Given the description of an element on the screen output the (x, y) to click on. 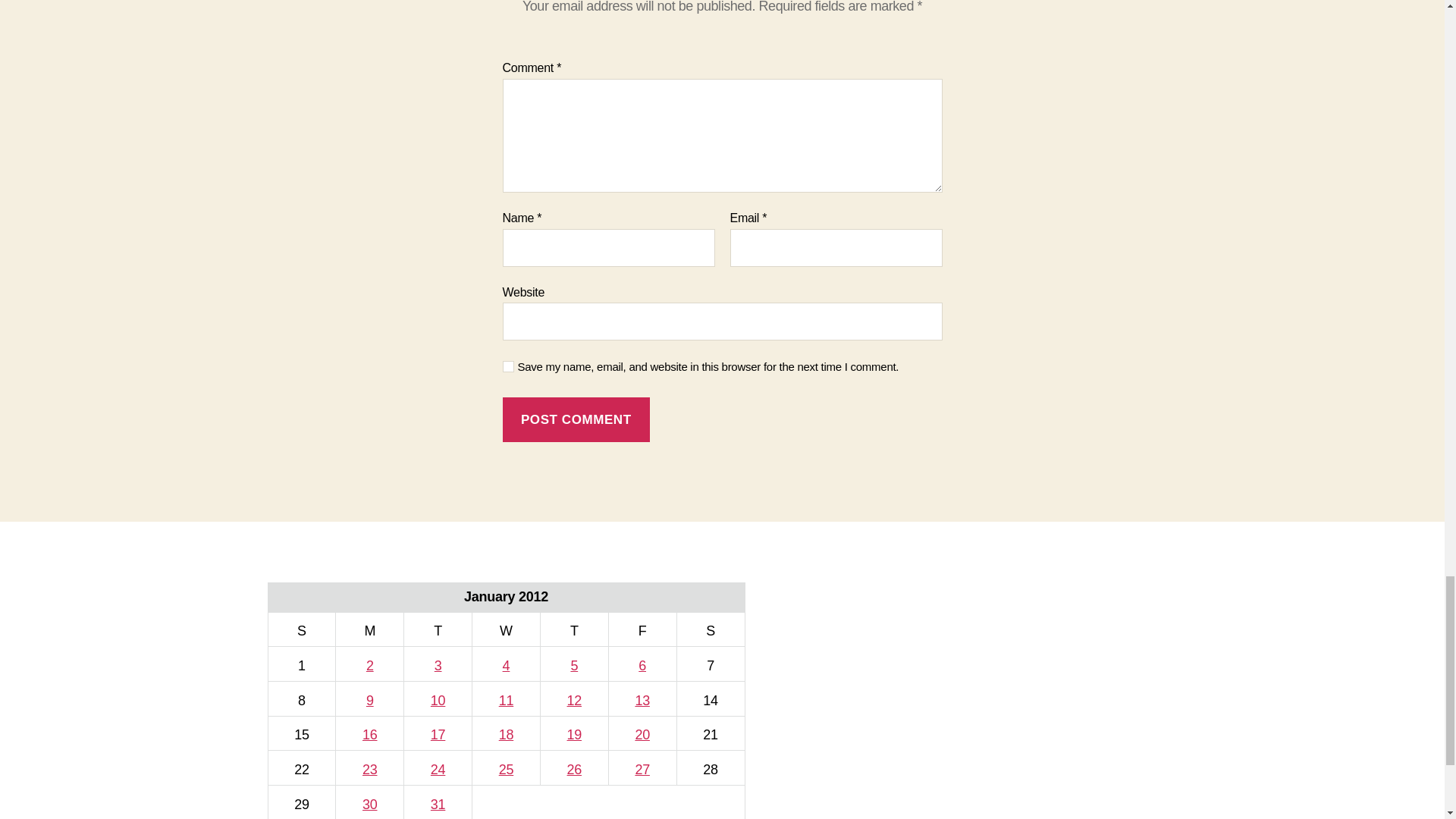
11 (506, 700)
Post Comment (575, 419)
12 (573, 700)
Friday (642, 629)
Post Comment (575, 419)
yes (507, 366)
13 (641, 700)
10 (437, 700)
Monday (370, 629)
Thursday (574, 629)
